Given the description of an element on the screen output the (x, y) to click on. 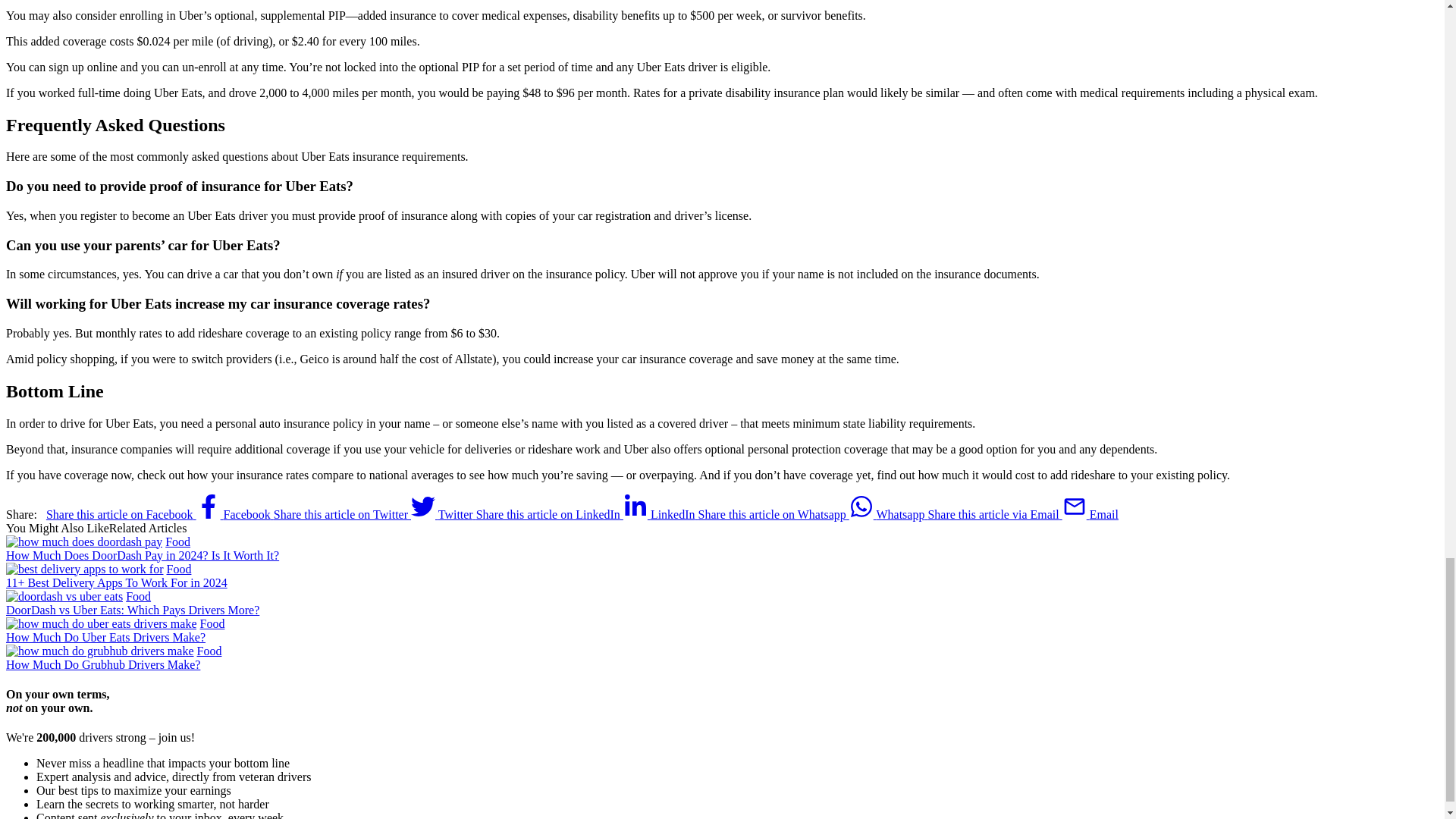
Share this article on Twitter Twitter (374, 513)
Share this article on Facebook Facebook (159, 513)
Share this article on LinkedIn LinkedIn (587, 513)
